Given the description of an element on the screen output the (x, y) to click on. 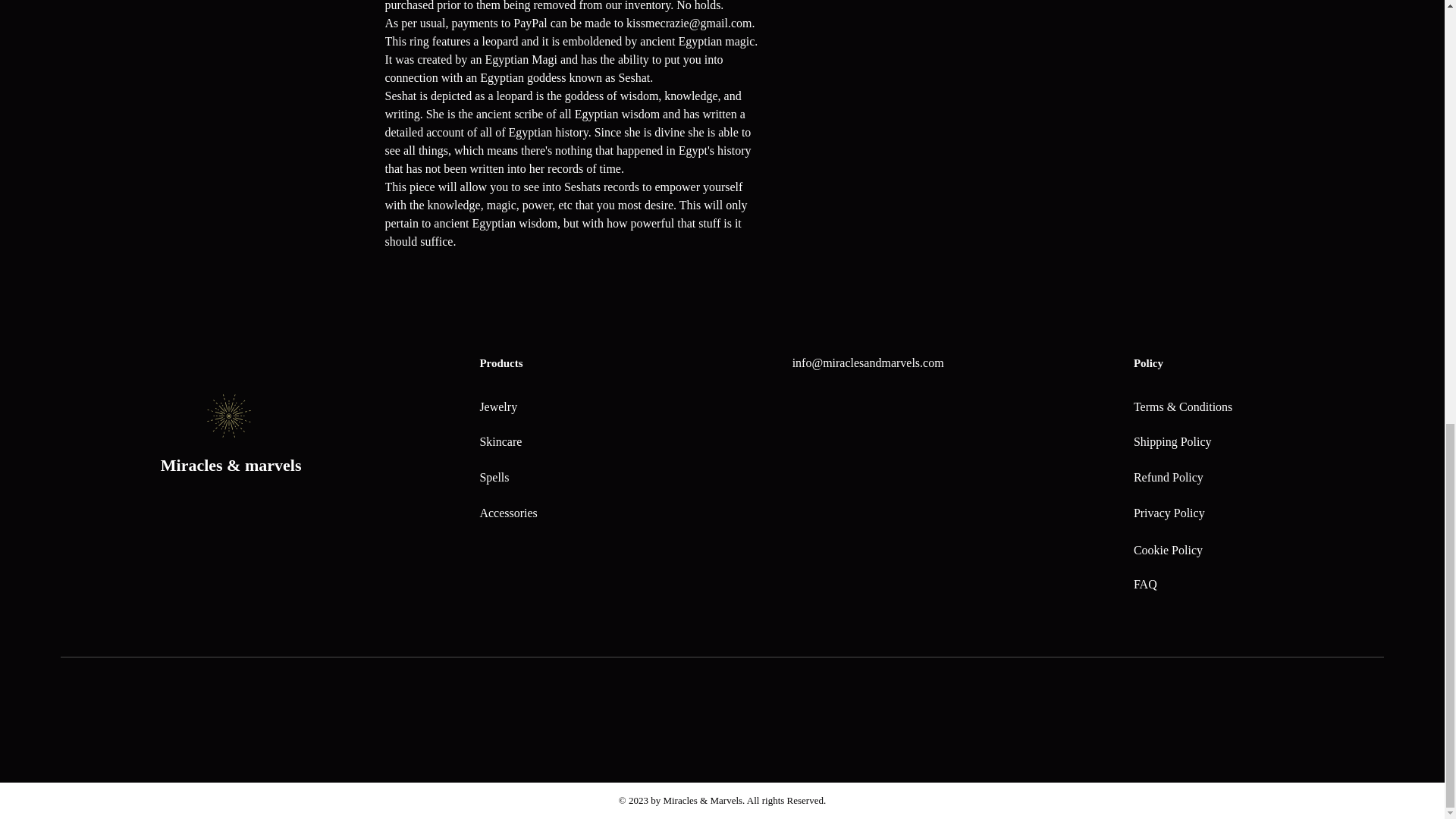
Spells (493, 477)
Skincare (500, 440)
Cookie Policy (1168, 549)
Jewelry (497, 406)
Shipping Policy (1172, 440)
Refund Policy (1169, 477)
Privacy Policy (1169, 512)
FAQ (1145, 584)
Accessories (508, 512)
